Given the description of an element on the screen output the (x, y) to click on. 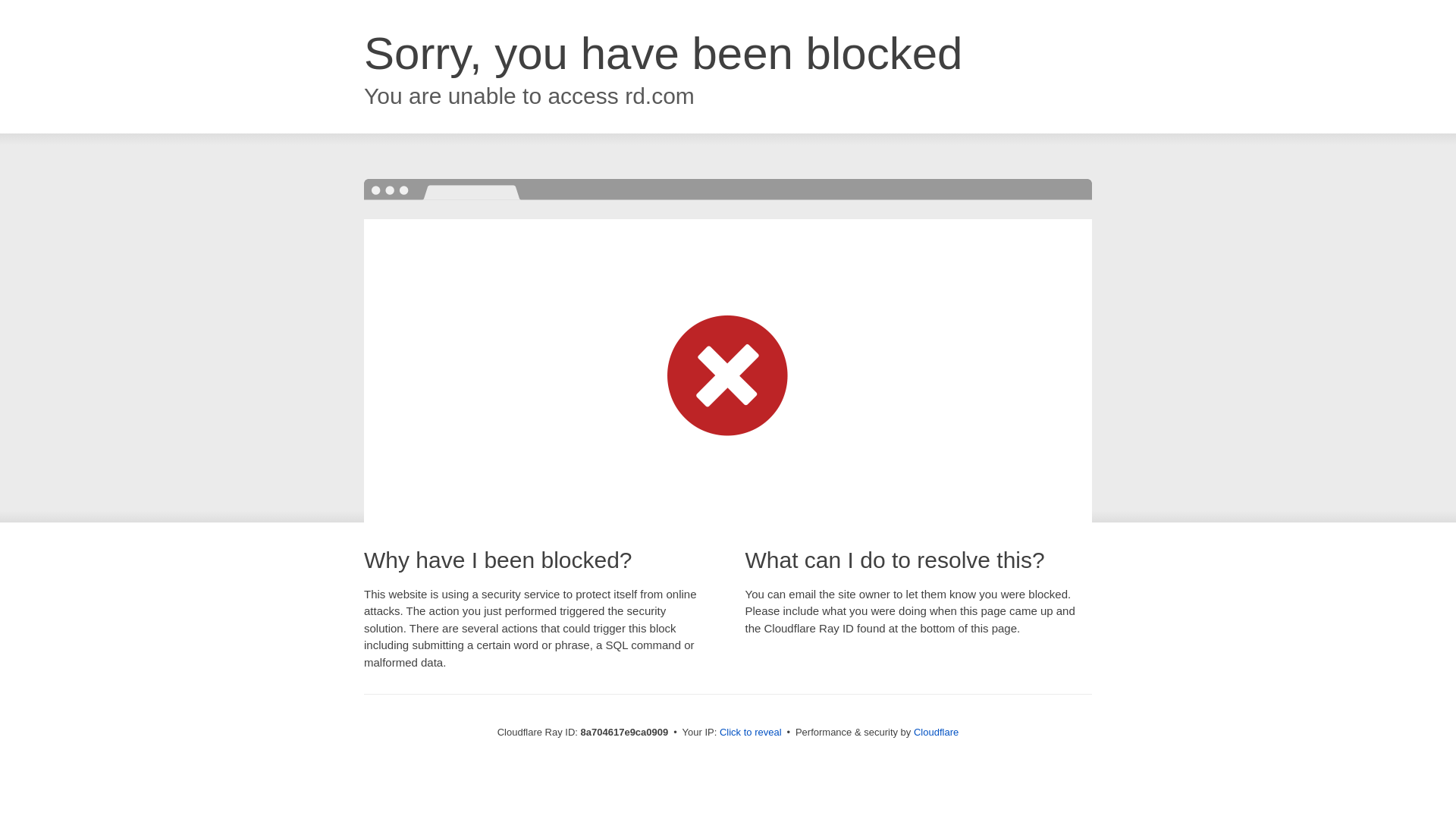
Cloudflare (936, 731)
Click to reveal (750, 732)
